Given the description of an element on the screen output the (x, y) to click on. 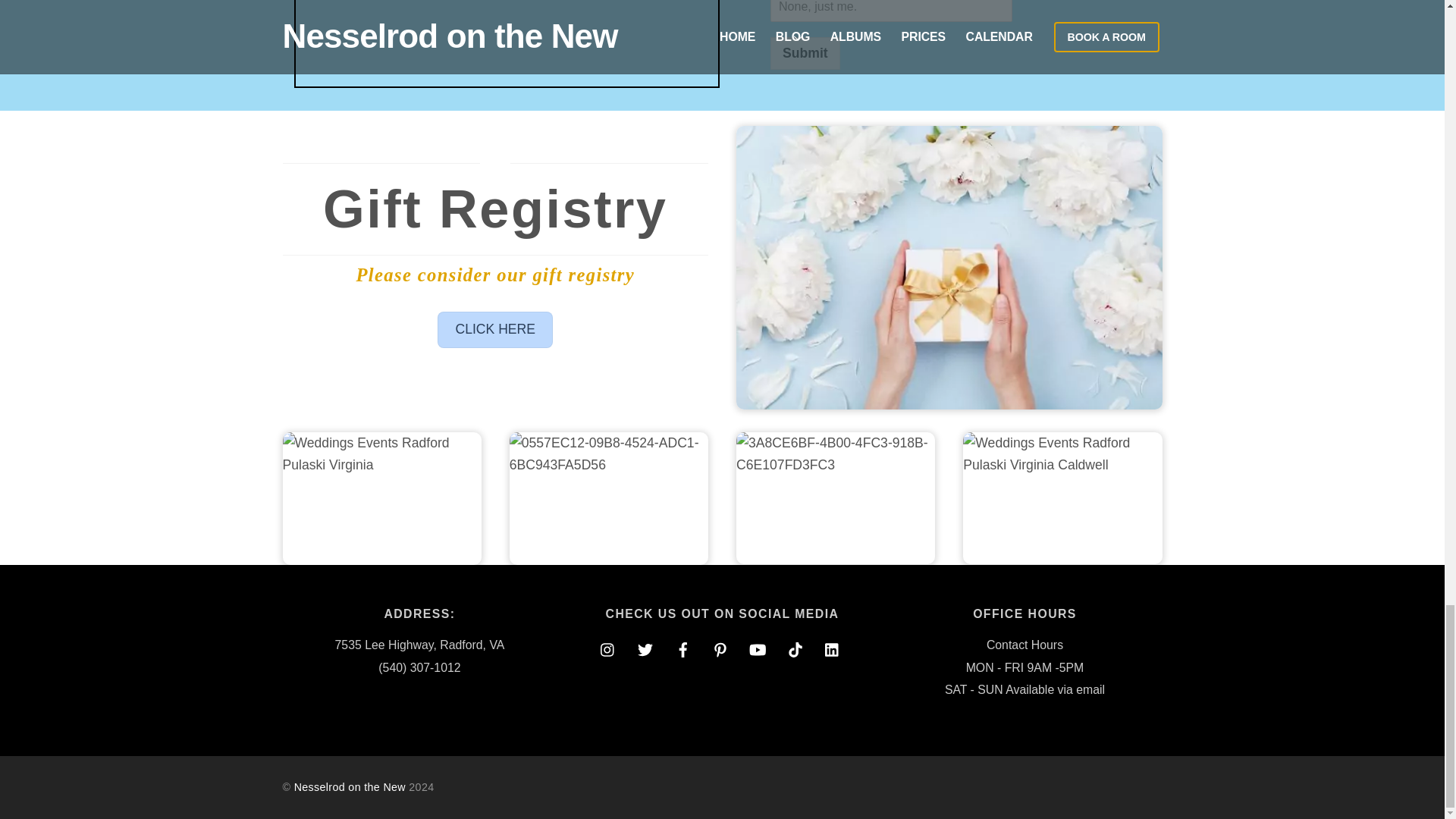
CLICK HERE (495, 330)
Submit (805, 52)
3A8CE6BF-4B00-4FC3-918B-C6E107FD3FC3 (835, 498)
Weddings Events Radford Pulaski Virginia (381, 498)
0557EC12-09B8-4524-ADC1-6BC943FA5D56 (608, 498)
Nesselrod on the New (350, 787)
Weddings Events Radford Pulaski Virginia (948, 267)
